Given the description of an element on the screen output the (x, y) to click on. 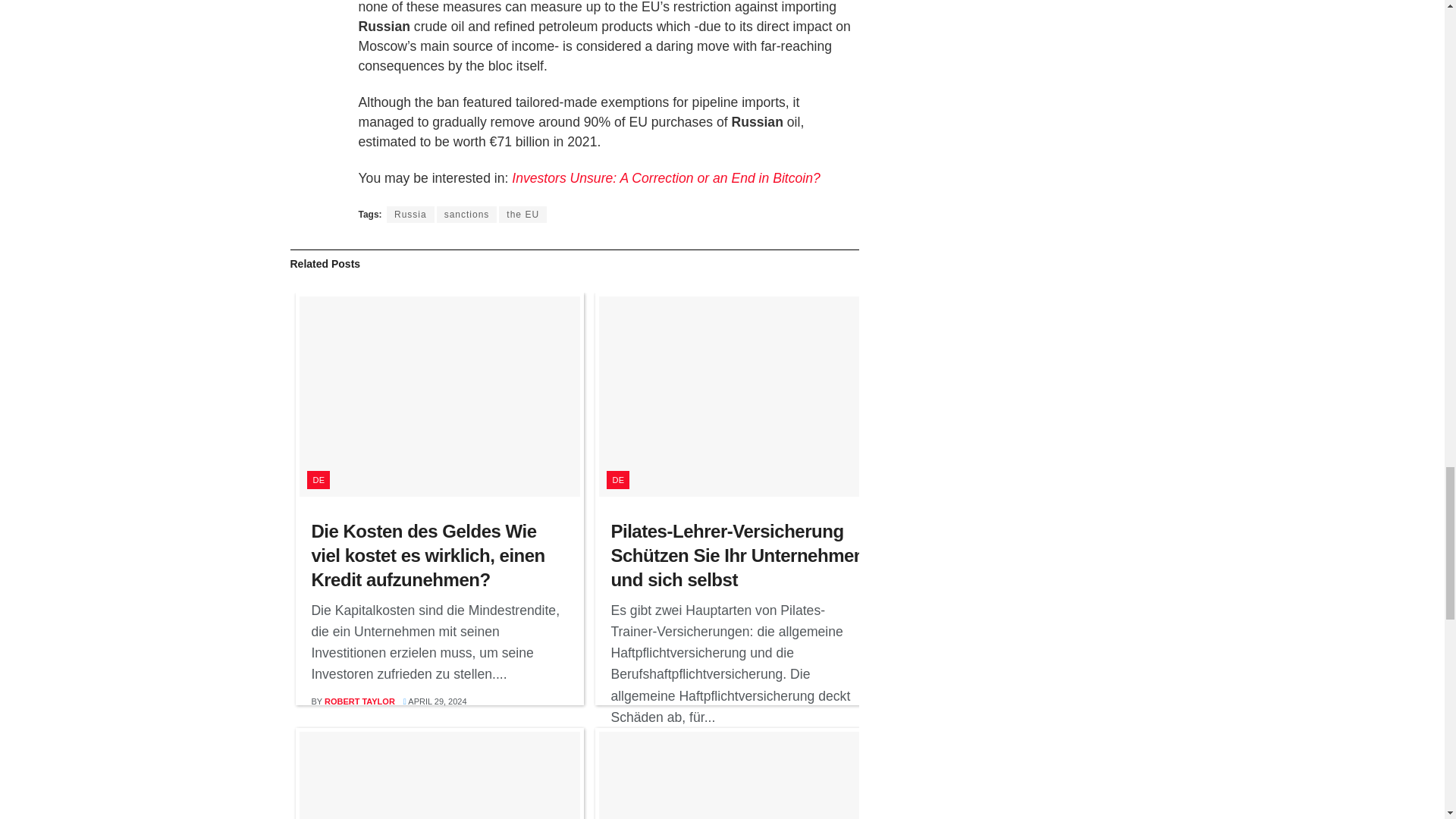
APRIL 23, 2024 (735, 743)
the EU (523, 214)
sanctions (466, 214)
ROBERT TAYLOR (659, 743)
Investors Unsure: A Correction or an End in Bitcoin? (665, 177)
Russia (410, 214)
ROBERT TAYLOR (359, 700)
DE (617, 479)
DE (318, 479)
